Given the description of an element on the screen output the (x, y) to click on. 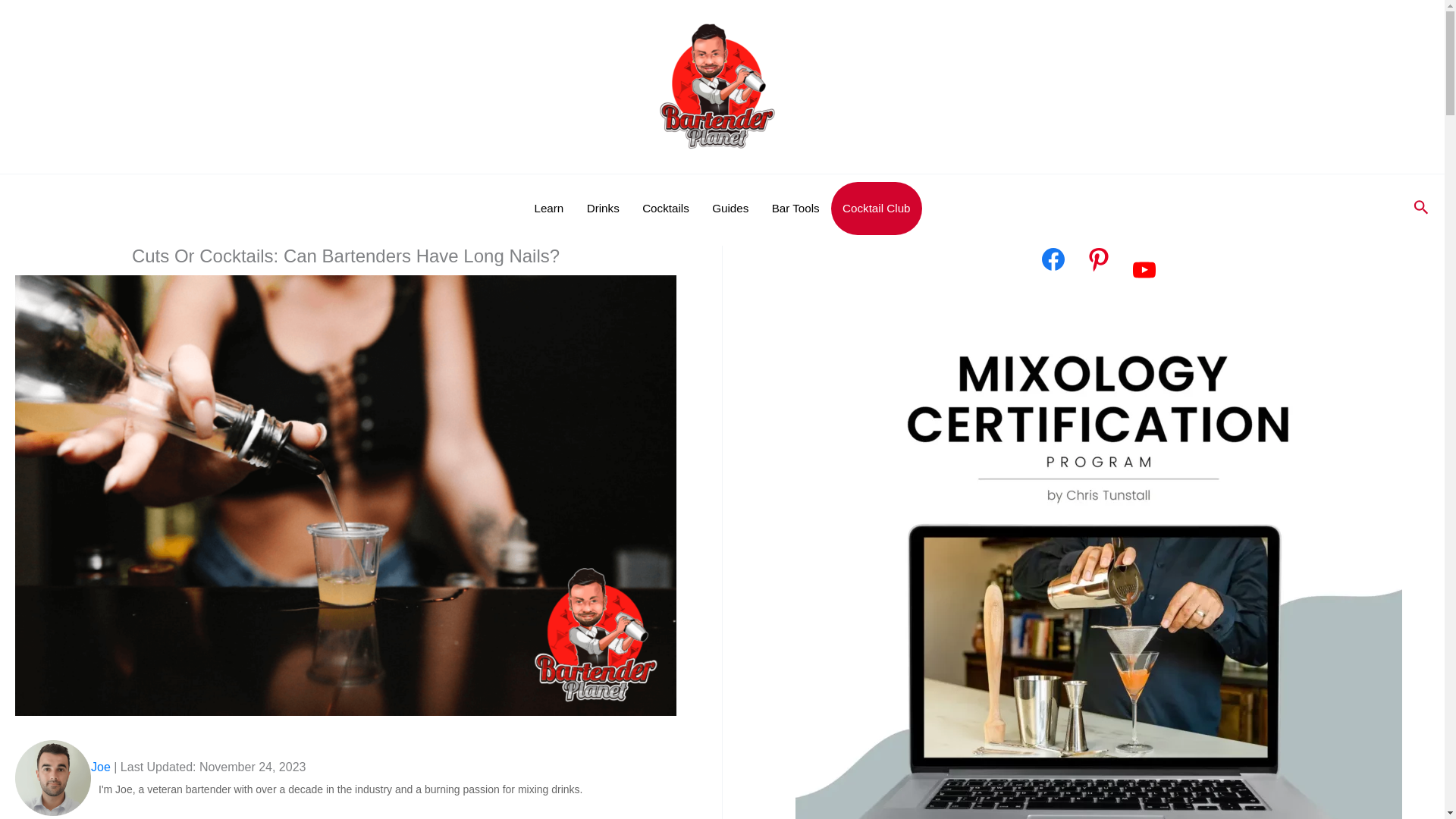
Joe (100, 766)
Cocktails (665, 208)
Cocktail Club (876, 208)
Bar Tools (794, 208)
